Given the description of an element on the screen output the (x, y) to click on. 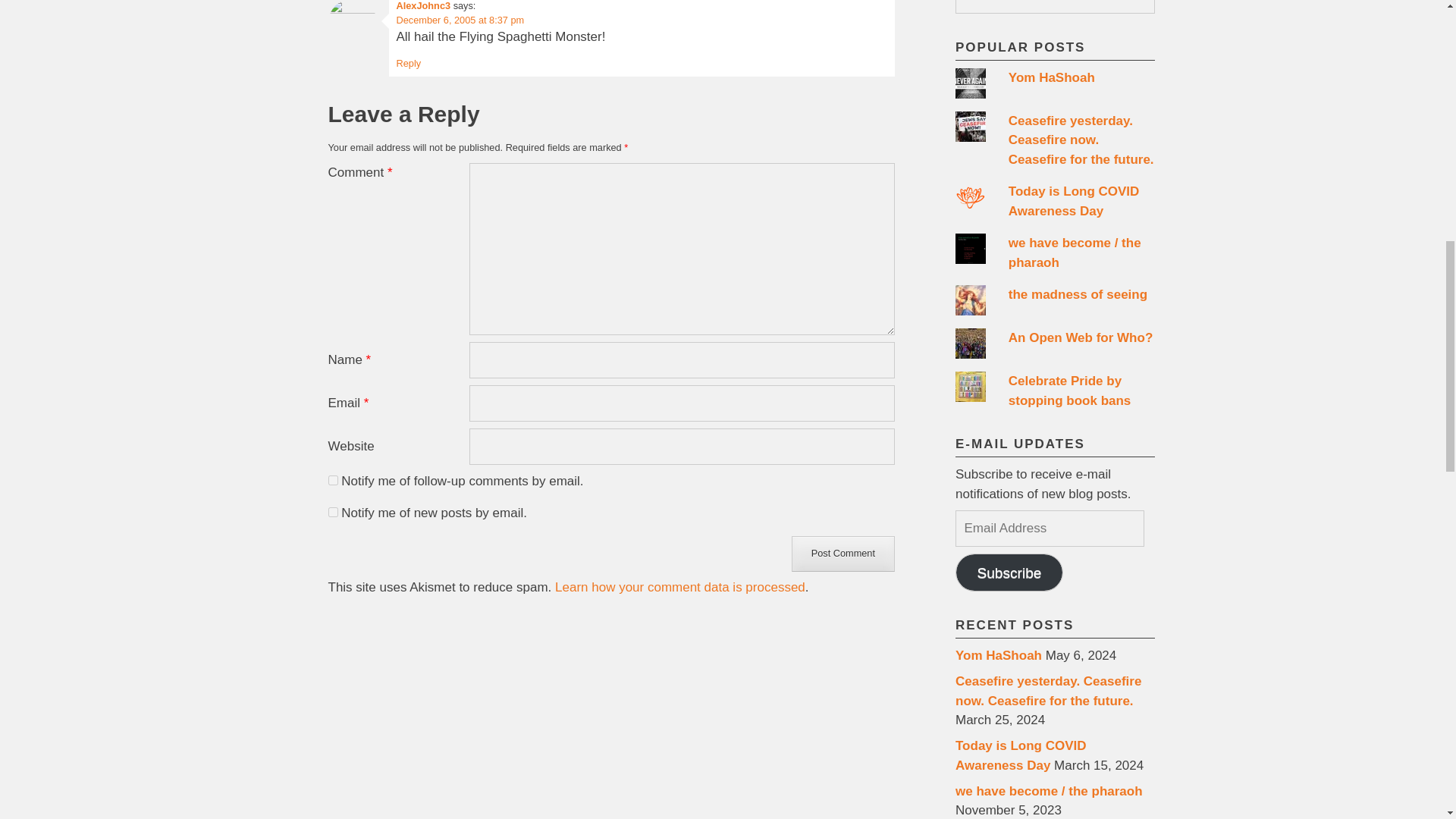
subscribe (332, 480)
Learn how your comment data is processed (679, 586)
Post Comment (843, 553)
Today is Long COVID Awareness Day (1074, 201)
AlexJohnc3 (422, 5)
December 6, 2005 at 8:37 pm (460, 19)
Reply (408, 62)
Yom HaShoah (1051, 77)
subscribe (332, 511)
